Given the description of an element on the screen output the (x, y) to click on. 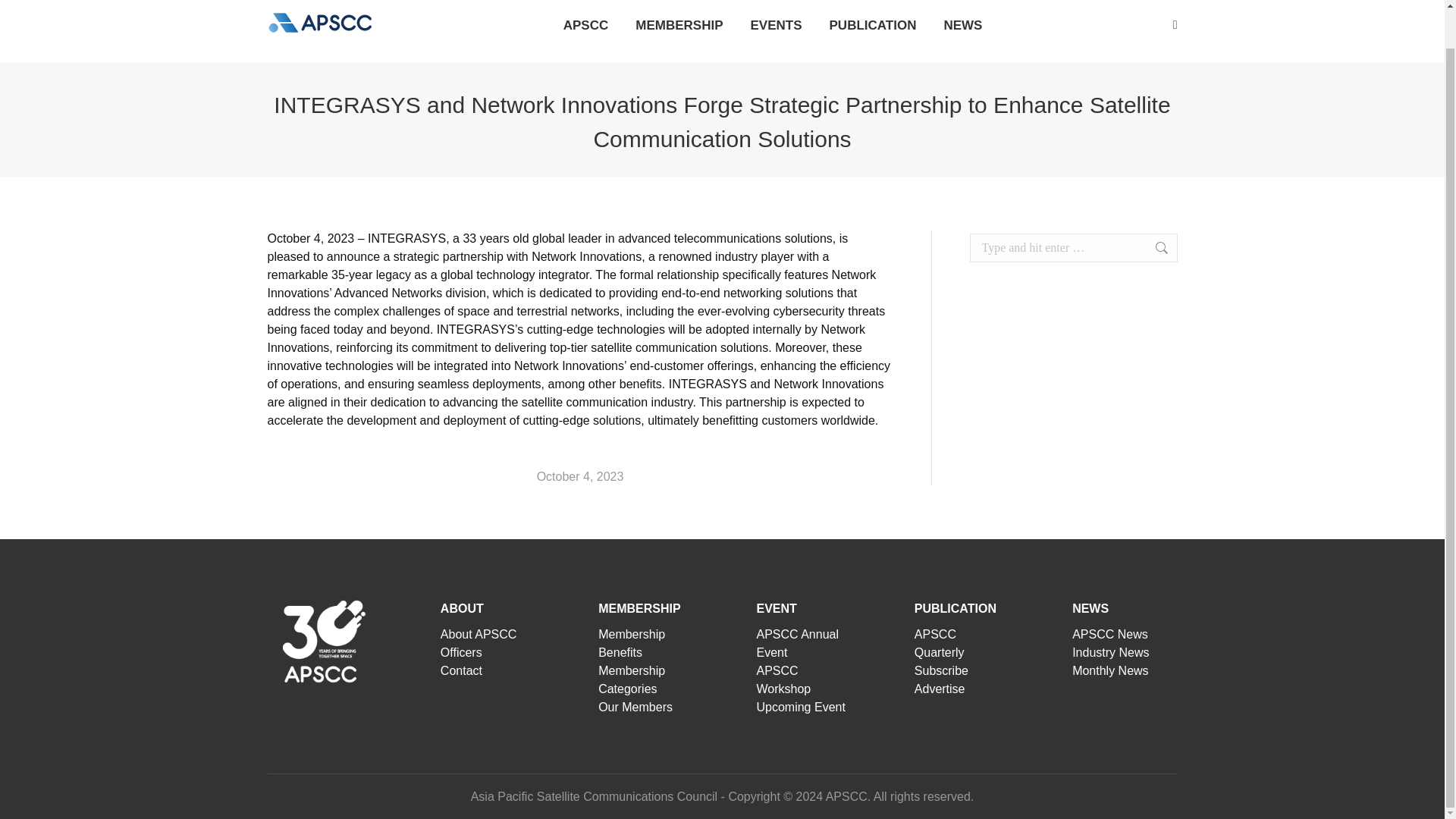
PUBLICATION (873, 24)
October 4, 2023 (580, 476)
ABOUT (462, 608)
9:33 am (580, 476)
APSCC (585, 24)
Go! (1153, 247)
Go! (1153, 247)
EVENTS (775, 24)
NEWS (962, 24)
MEMBERSHIP (678, 24)
Go! (1153, 247)
